Given the description of an element on the screen output the (x, y) to click on. 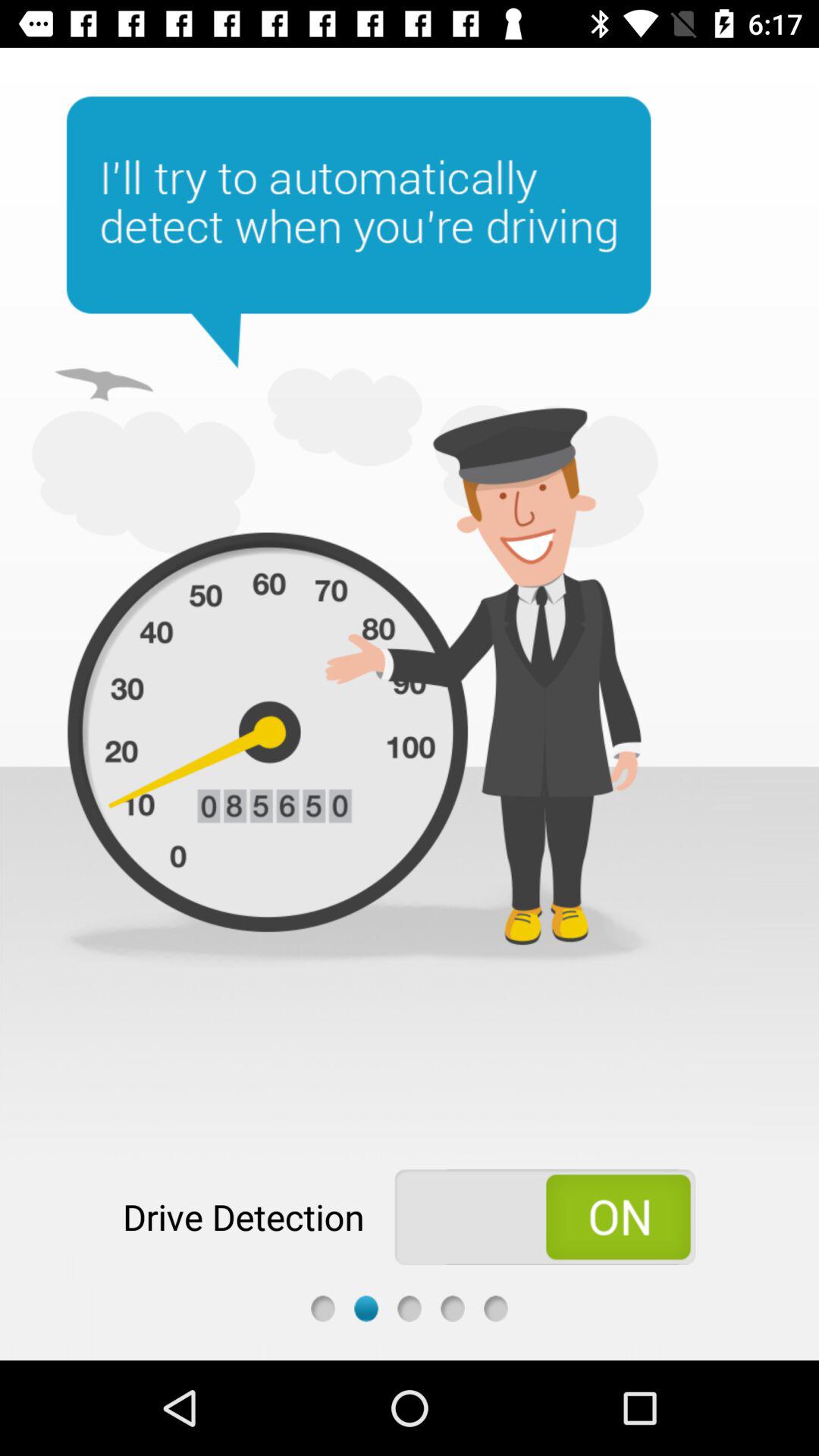
toggle switch (544, 1216)
